Given the description of an element on the screen output the (x, y) to click on. 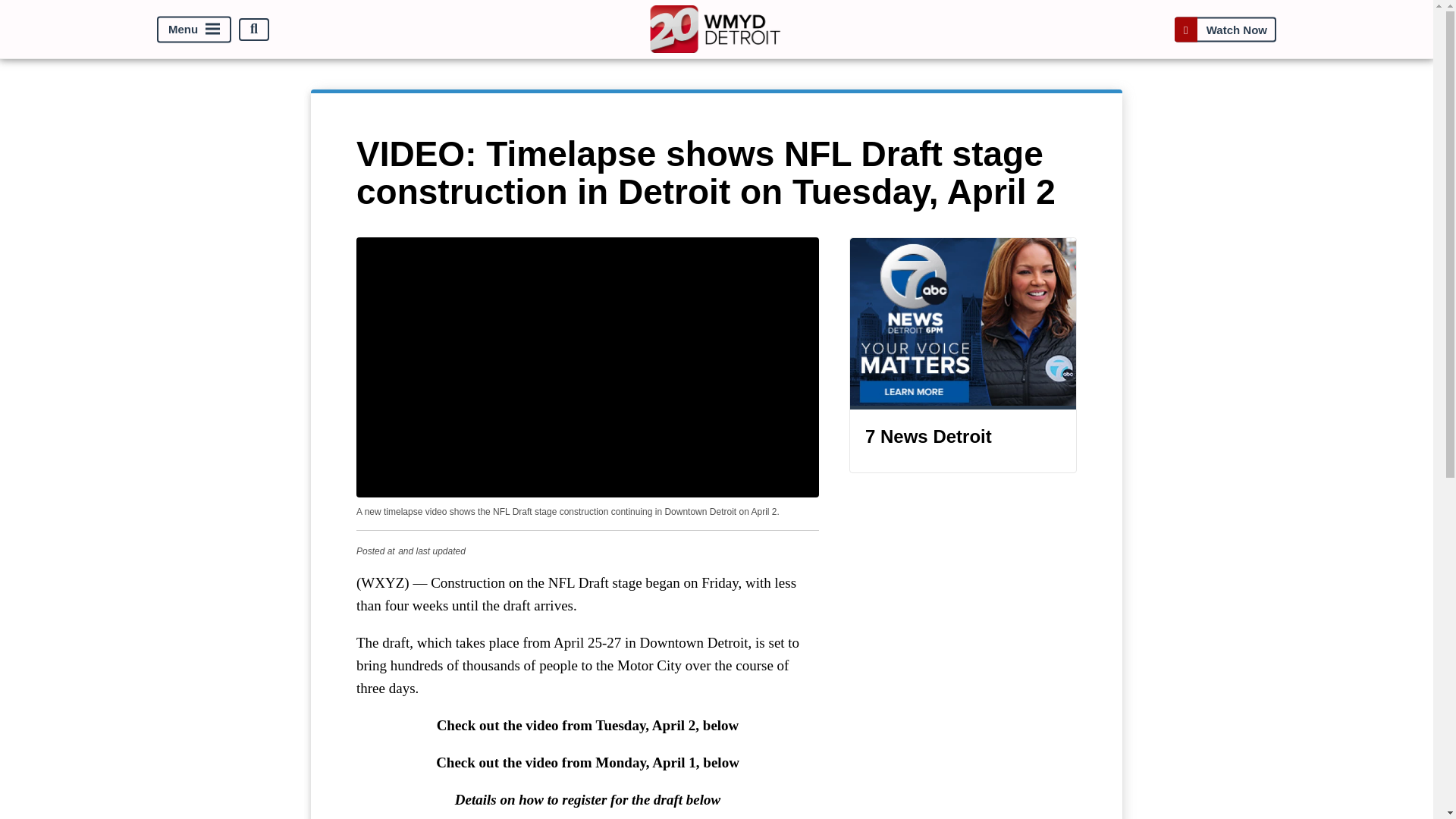
Watch Now (1224, 29)
Menu (194, 28)
7 News Detroit (962, 355)
